Given the description of an element on the screen output the (x, y) to click on. 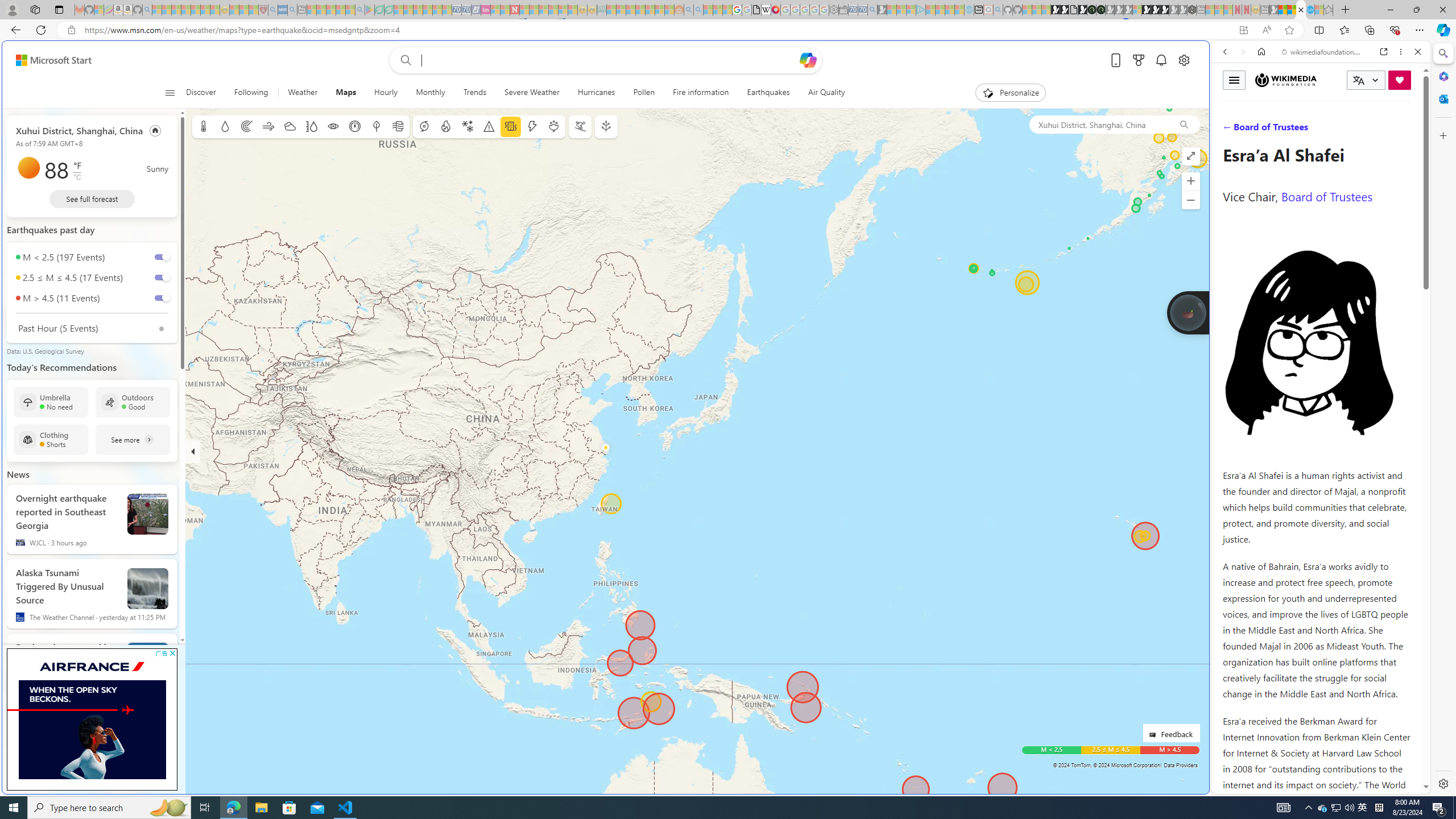
Dew point (376, 126)
Search the web (1326, 78)
NCL Adult Asthma Inhaler Choice Guideline - Sleeping (282, 9)
Xuhui District, Shanghai, China (79, 130)
Home | Sky Blue Bikes - Sky Blue Bikes - Sleeping (968, 9)
Wikimedia Foundation (1285, 79)
